Given the description of an element on the screen output the (x, y) to click on. 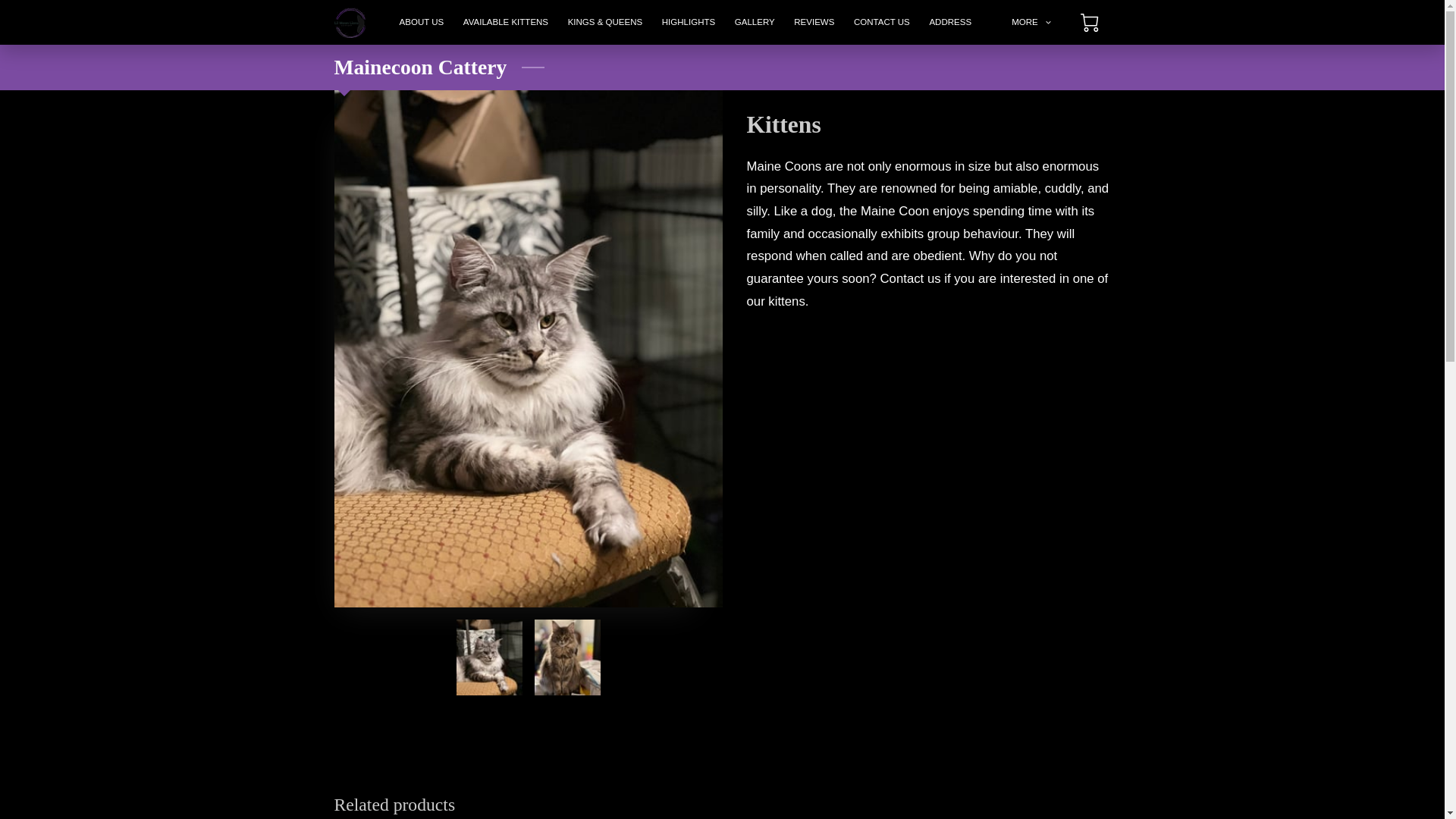
HIGHLIGHTS (688, 22)
ADDRESS (950, 22)
CONTACT US (881, 22)
GALLERY (754, 22)
AVAILABLE KITTENS (504, 22)
ABOUT US (421, 22)
0 (1088, 22)
REVIEWS (814, 22)
